Given the description of an element on the screen output the (x, y) to click on. 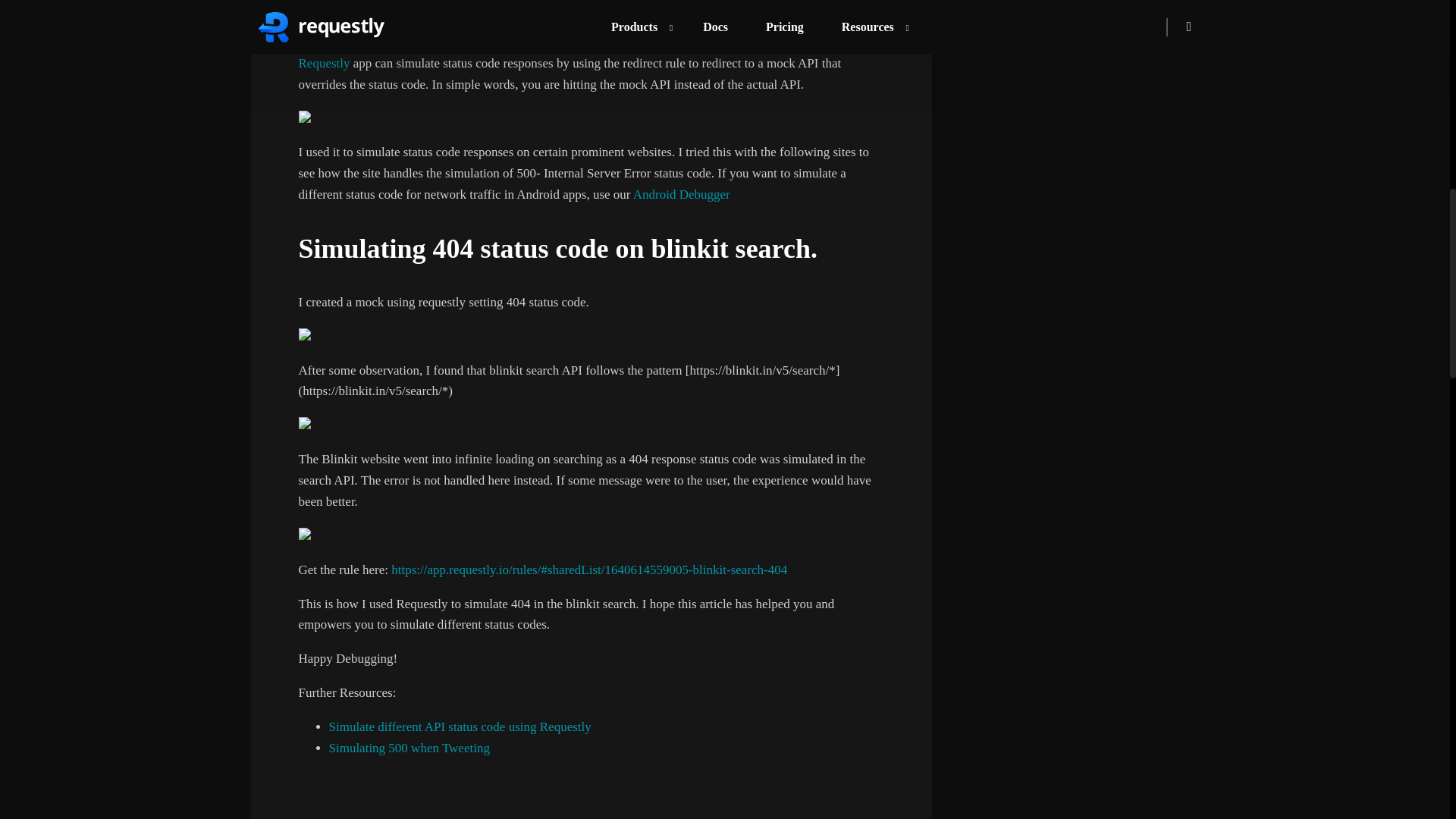
Simulating 500 when Tweeting (409, 748)
Modify Headers (340, 7)
insert custom scripts (573, 18)
Simulate different API status code using Requestly (460, 726)
Mock API responses (598, 7)
Switch hosts, (507, 7)
Android Debugger (681, 194)
Delay network reqests (715, 7)
Redirect URLs (426, 7)
Requestly (324, 63)
